Given the description of an element on the screen output the (x, y) to click on. 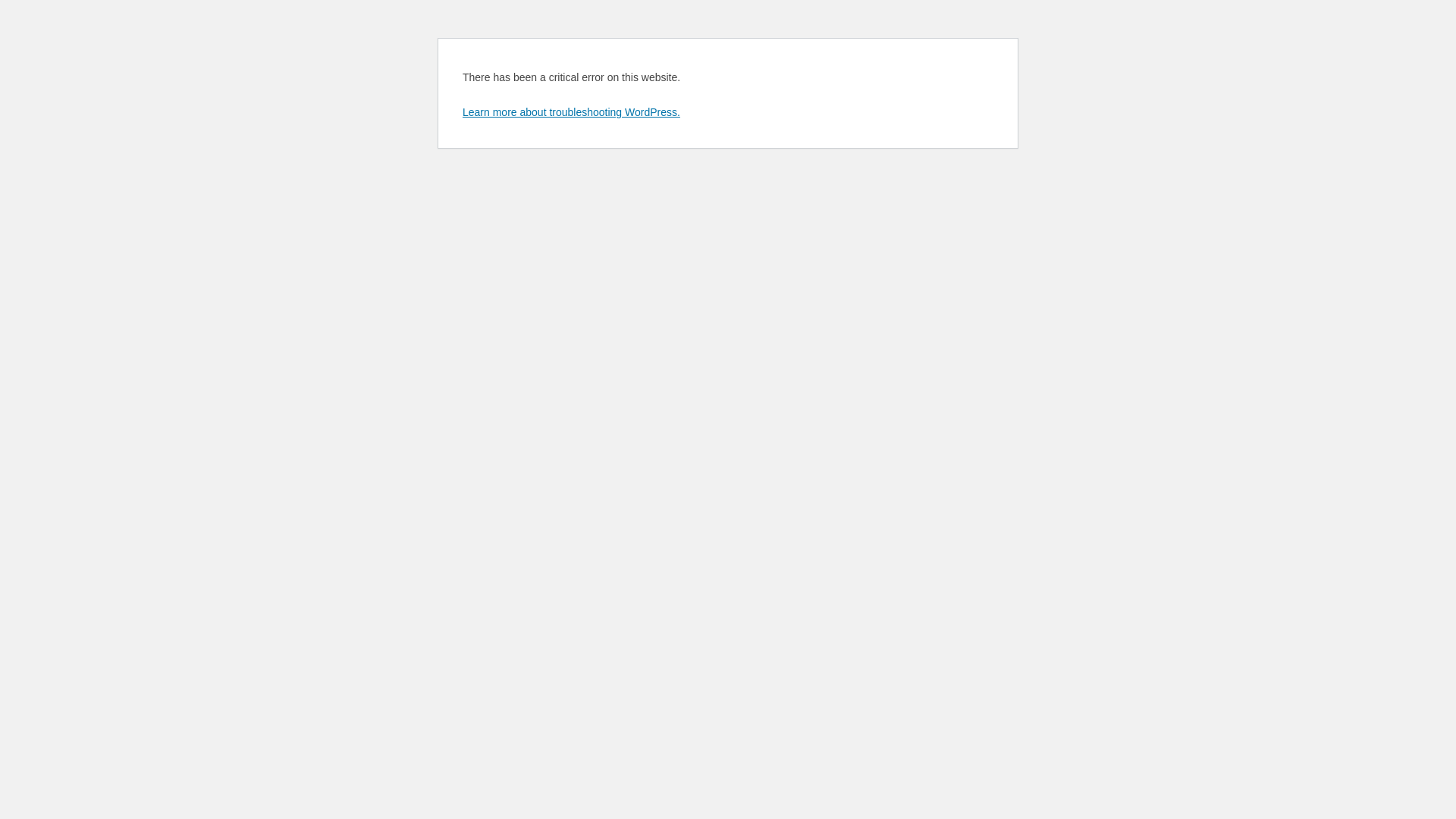
Learn more about troubleshooting WordPress. Element type: text (571, 112)
